Given the description of an element on the screen output the (x, y) to click on. 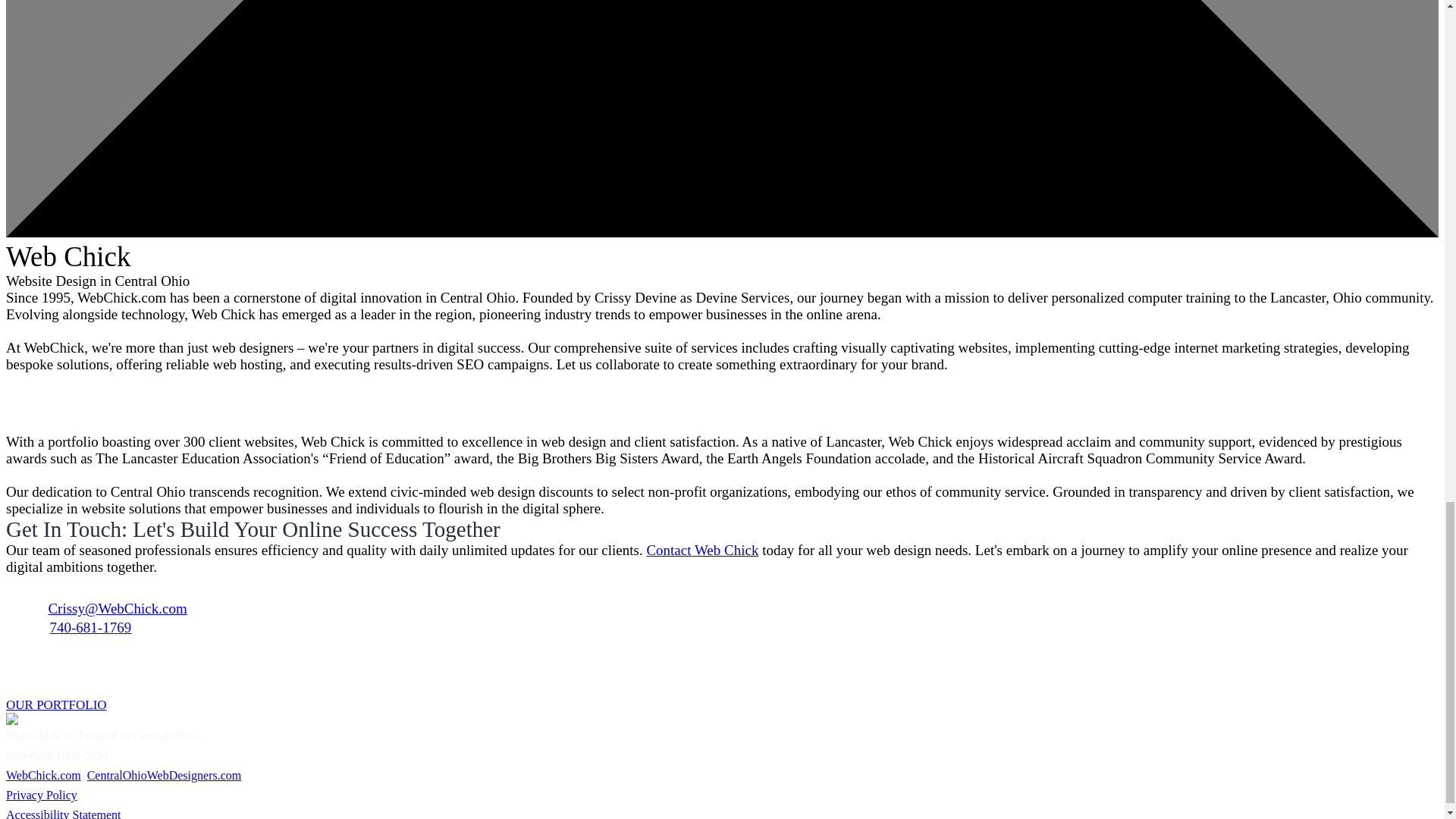
Contact Web Chick (702, 549)
740-681-1769 (90, 627)
Privacy Policy (41, 794)
WebChick.com (43, 775)
OUR PORTFOLIO (55, 704)
CentralOhioWebDesigners.com (164, 775)
